Given the description of an element on the screen output the (x, y) to click on. 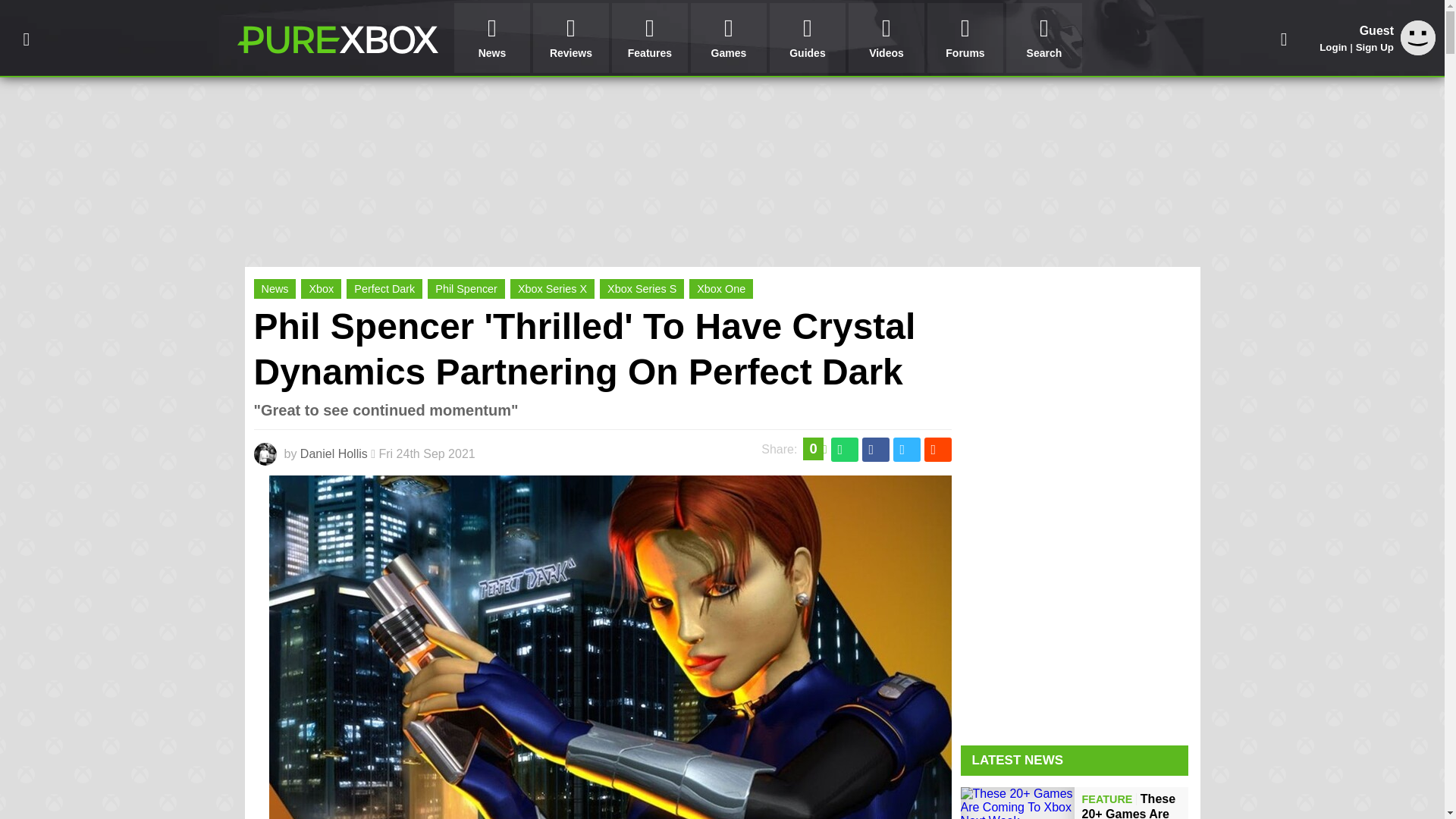
Reviews (570, 37)
Videos (886, 37)
Search (1043, 37)
Xbox One (720, 288)
Daniel Hollis (333, 453)
Guides (807, 37)
Share this on Twitter (906, 449)
Xbox Series X (552, 288)
Share this on Facebook (874, 449)
